Given the description of an element on the screen output the (x, y) to click on. 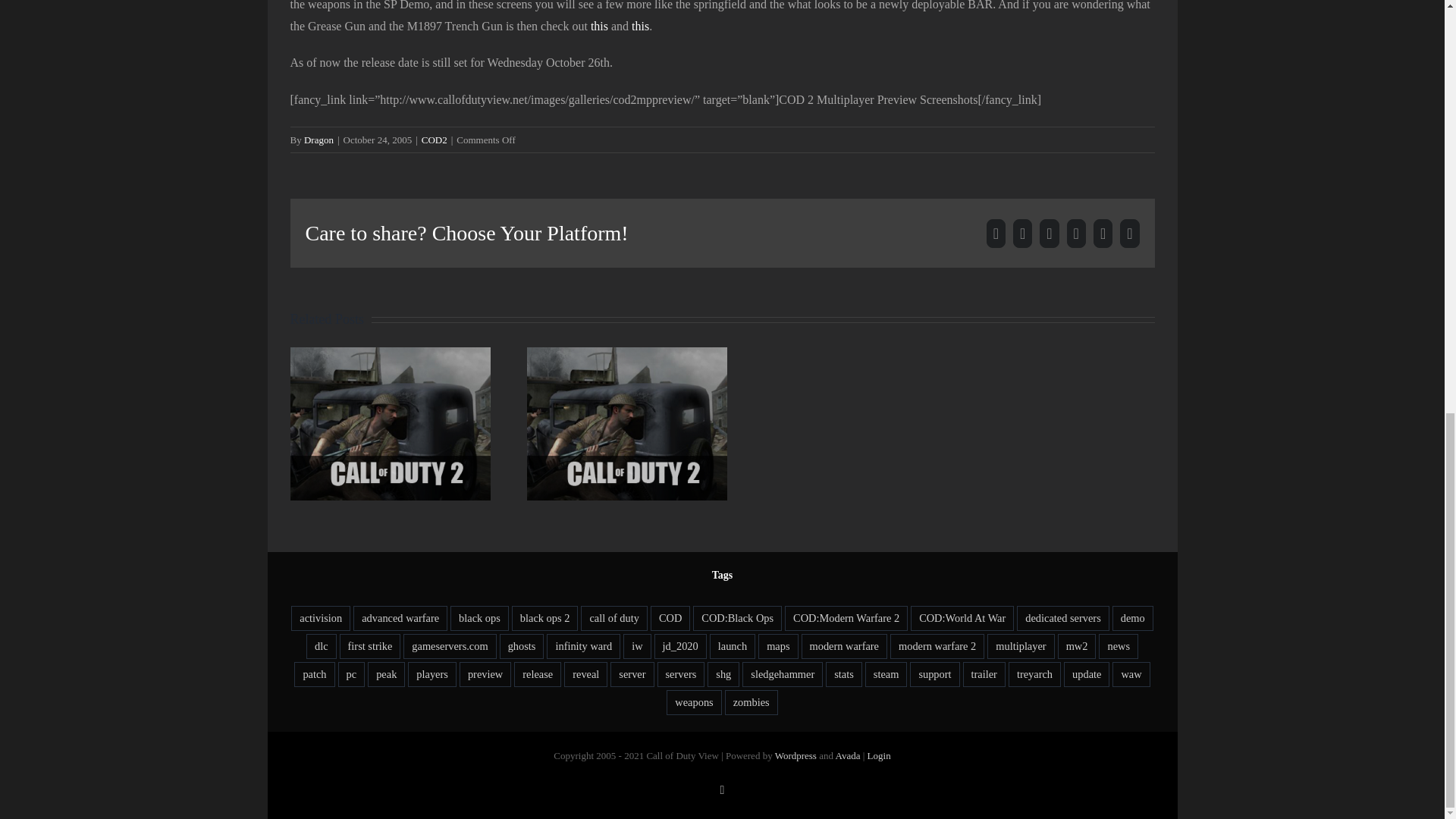
Email (1128, 233)
WhatsApp (1076, 233)
X (1022, 233)
Facebook (996, 233)
Reddit (1048, 233)
this (599, 25)
this (640, 25)
activision (320, 618)
Dragon (318, 139)
Tumblr (1102, 233)
Posts by Dragon (318, 139)
COD2 (434, 139)
